Given the description of an element on the screen output the (x, y) to click on. 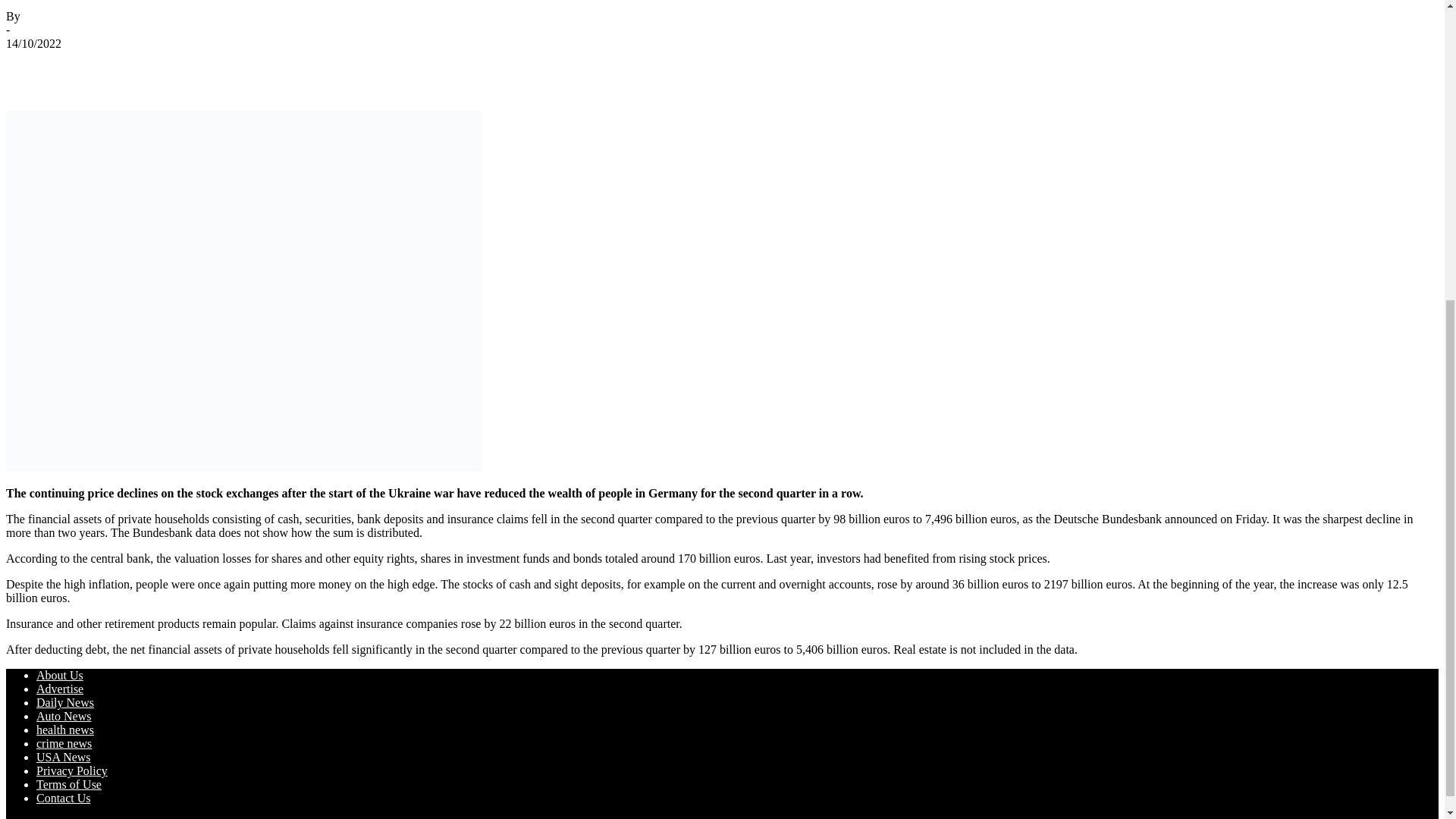
Auto News (63, 716)
Daily News (65, 702)
Terms of Use (68, 784)
USA News (63, 757)
Contact Us (63, 797)
Privacy Policy (71, 770)
Advertise (59, 688)
crime news (63, 743)
health news (65, 729)
